Given the description of an element on the screen output the (x, y) to click on. 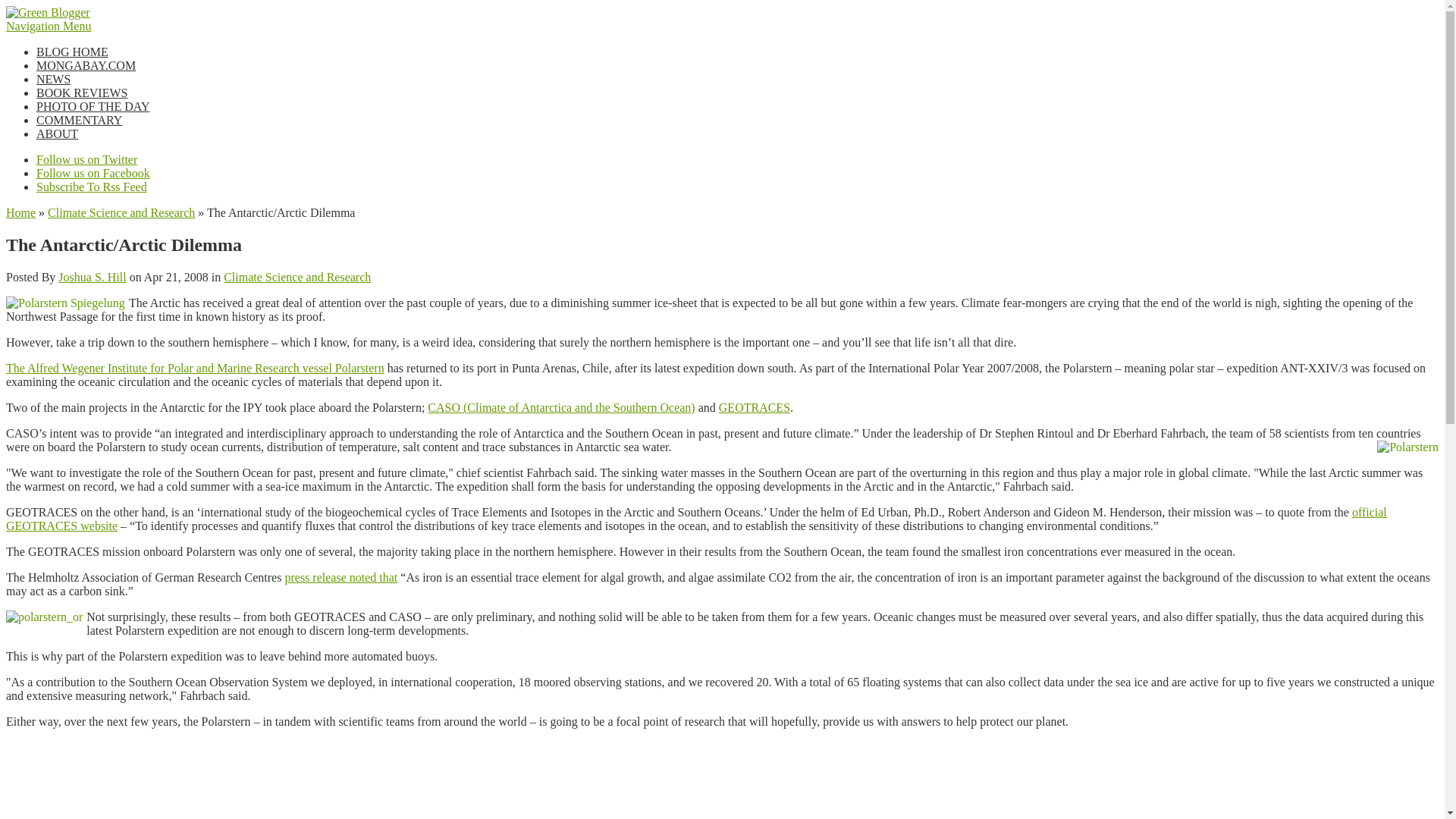
PHOTO OF THE DAY (92, 106)
Navigation Menu (47, 25)
MONGABAY.COM (85, 65)
official GEOTRACES website (696, 519)
Follow us on Twitter (86, 159)
BLOG HOME (71, 51)
Home (19, 212)
COMMENTARY (79, 119)
Climate Science and Research (297, 277)
ABOUT (57, 133)
